Given the description of an element on the screen output the (x, y) to click on. 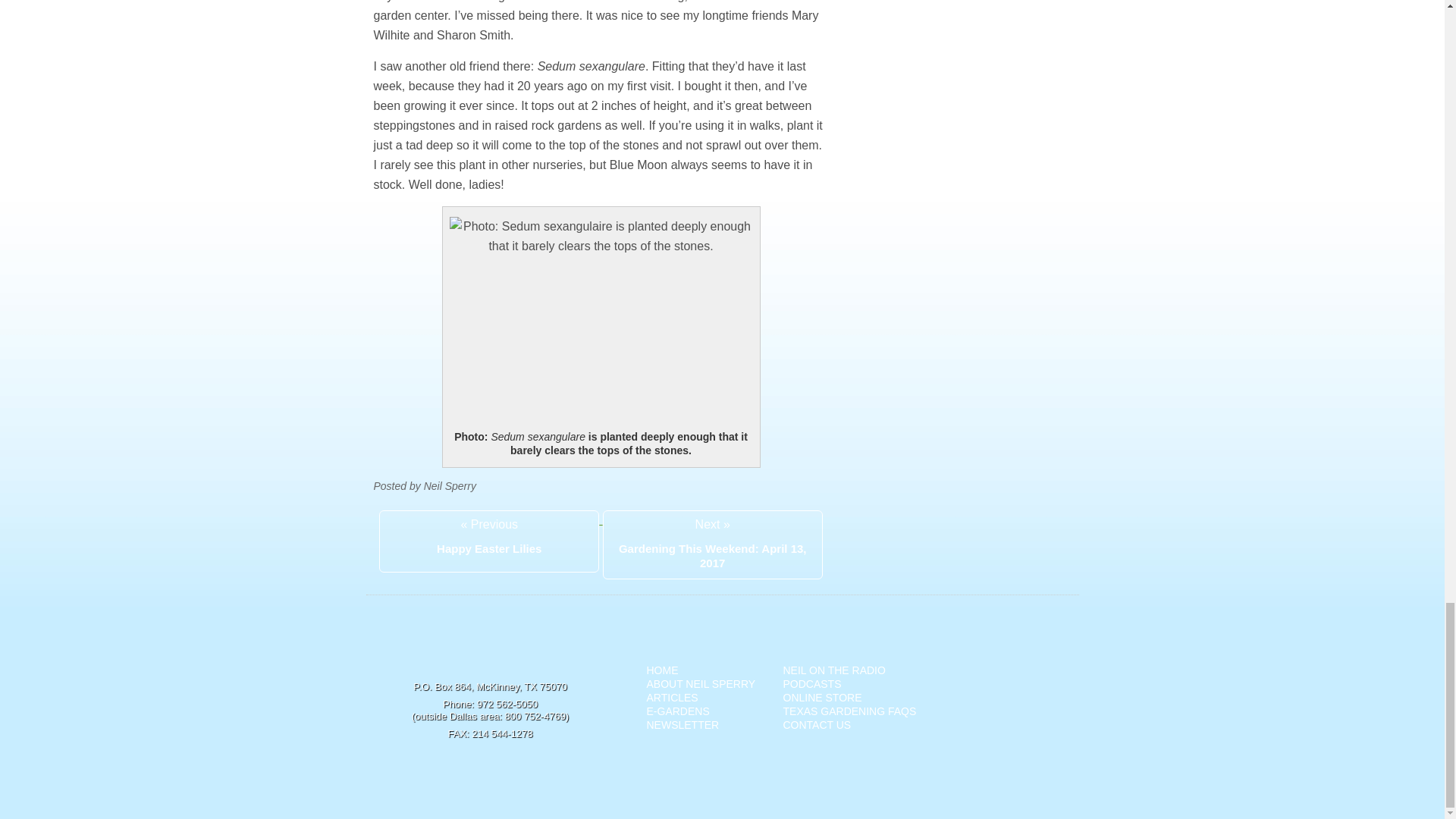
ABOUT NEIL SPERRY (700, 684)
PODCASTS (812, 684)
E-GARDENS NEWSLETTER (682, 718)
CONTACT US (816, 725)
ONLINE STORE (822, 697)
HOME (662, 670)
NEIL ON THE RADIO (834, 670)
ARTICLES (671, 697)
TEXAS GARDENING FAQS (849, 711)
